Given the description of an element on the screen output the (x, y) to click on. 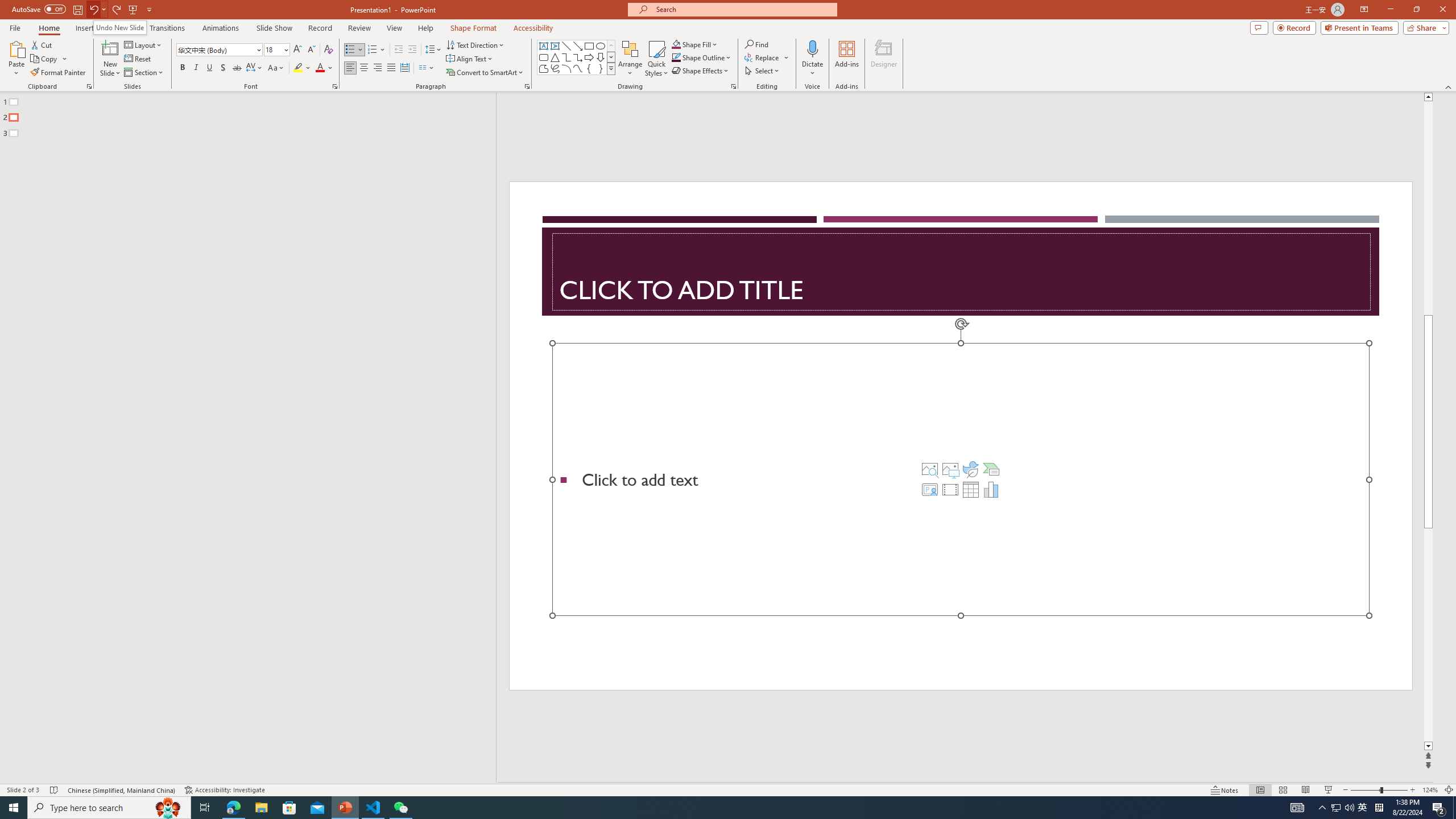
Undo New Slide (120, 27)
Shape Effects (700, 69)
